Given the description of an element on the screen output the (x, y) to click on. 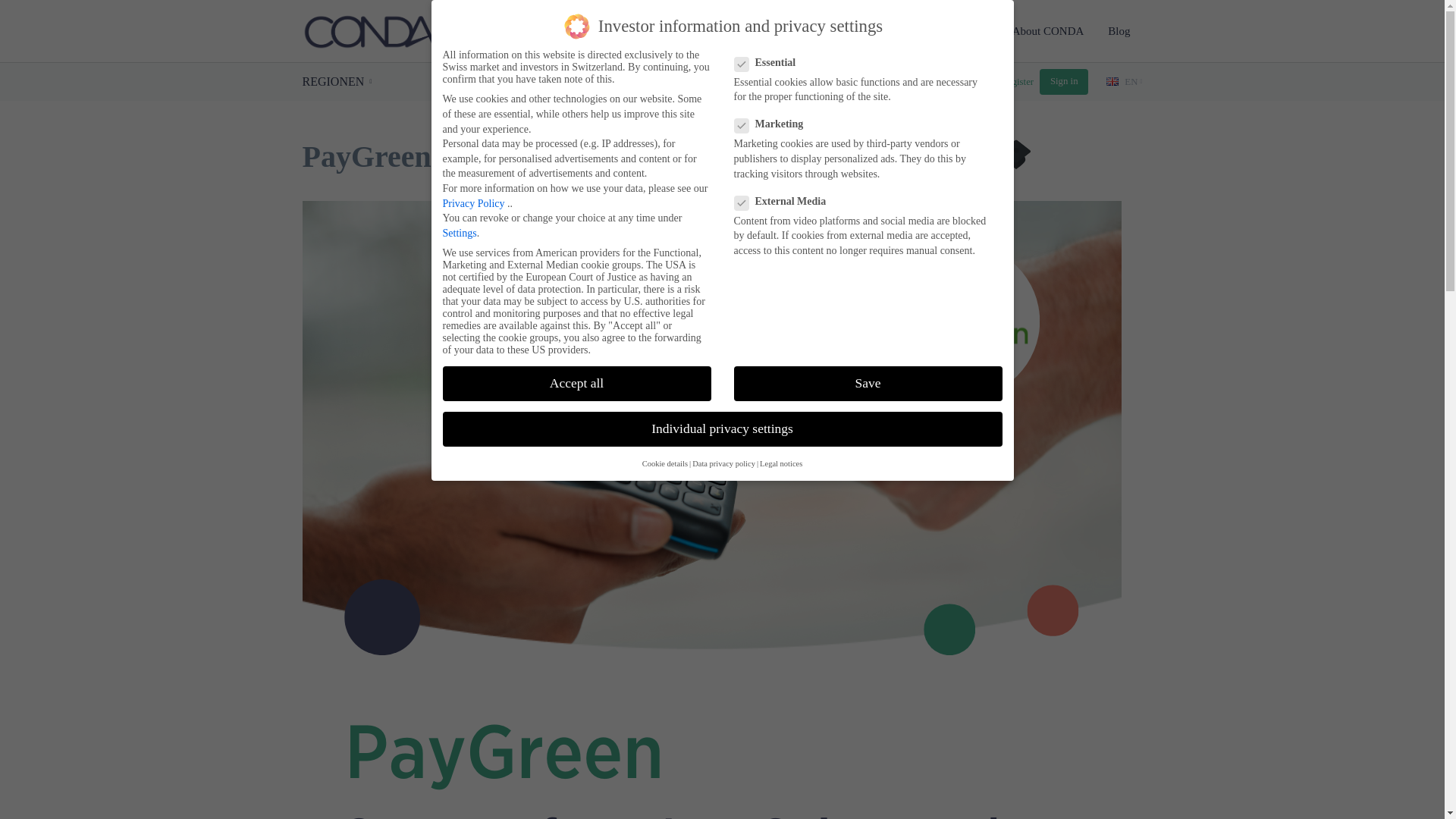
Blog (1118, 30)
For Business (956, 30)
About CONDA (1048, 30)
Blog (1118, 30)
Sign in (1063, 81)
For Investors (867, 30)
Register (1017, 81)
Discover Projects (769, 30)
For Business (956, 30)
Discover Projects (769, 30)
About CONDA (1048, 30)
For Investors (867, 30)
